Given the description of an element on the screen output the (x, y) to click on. 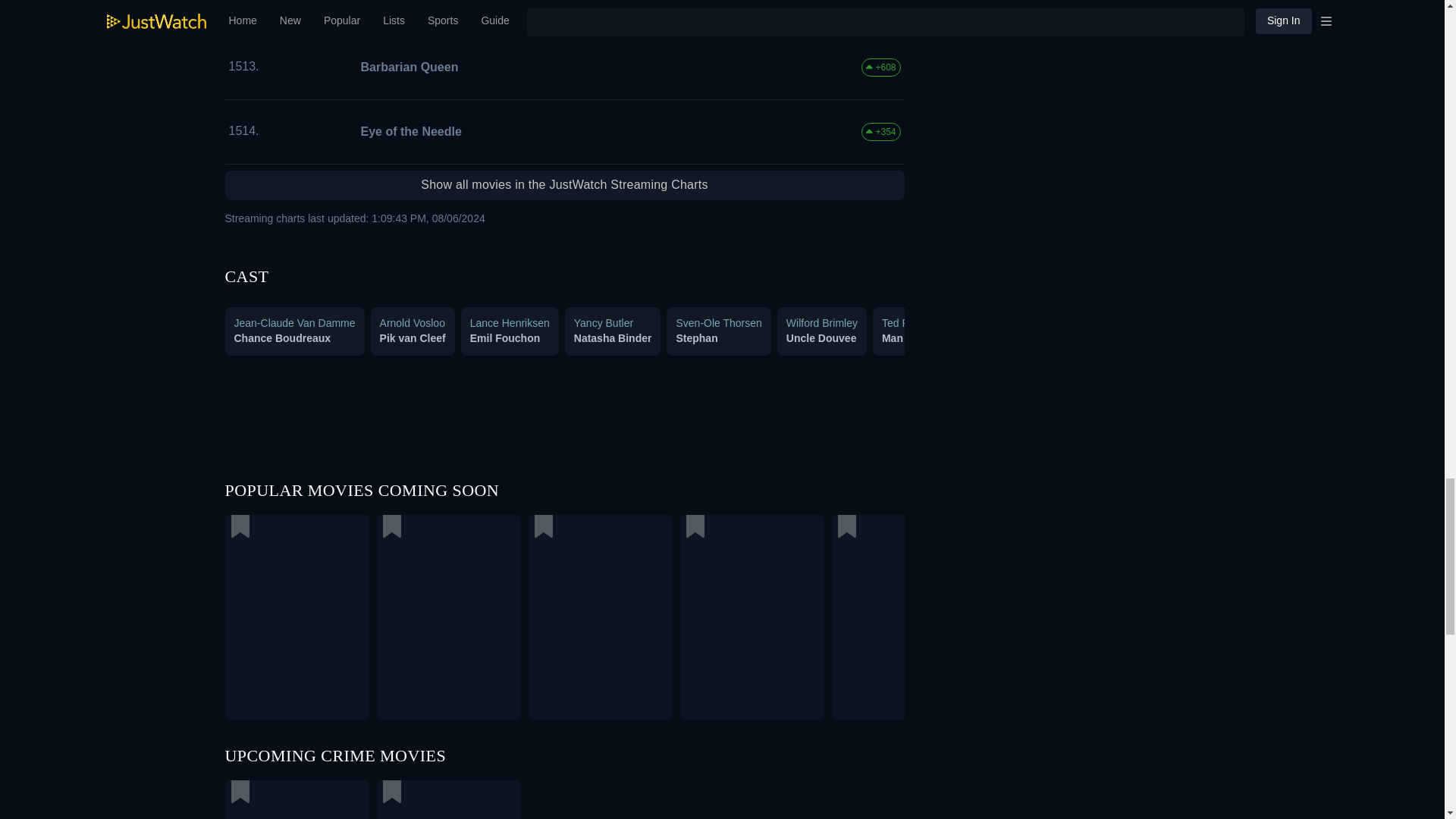
Natasha Binder (612, 337)
Elijah Roper (1143, 337)
Douglas Binder (1350, 337)
Chance Boudreaux (281, 337)
Rebel Ridge (374, 799)
Stephan (696, 337)
Night of the Bastard (416, 6)
Eye of the Needle (408, 131)
Randal Poe (1254, 337)
Man on the Street (926, 337)
Emil Fouchon (505, 337)
Barbarian Queen (406, 66)
Pik van Cleef (412, 337)
Rebel Ridge (564, 799)
Det. Marie Mitchell (1040, 337)
